Given the description of an element on the screen output the (x, y) to click on. 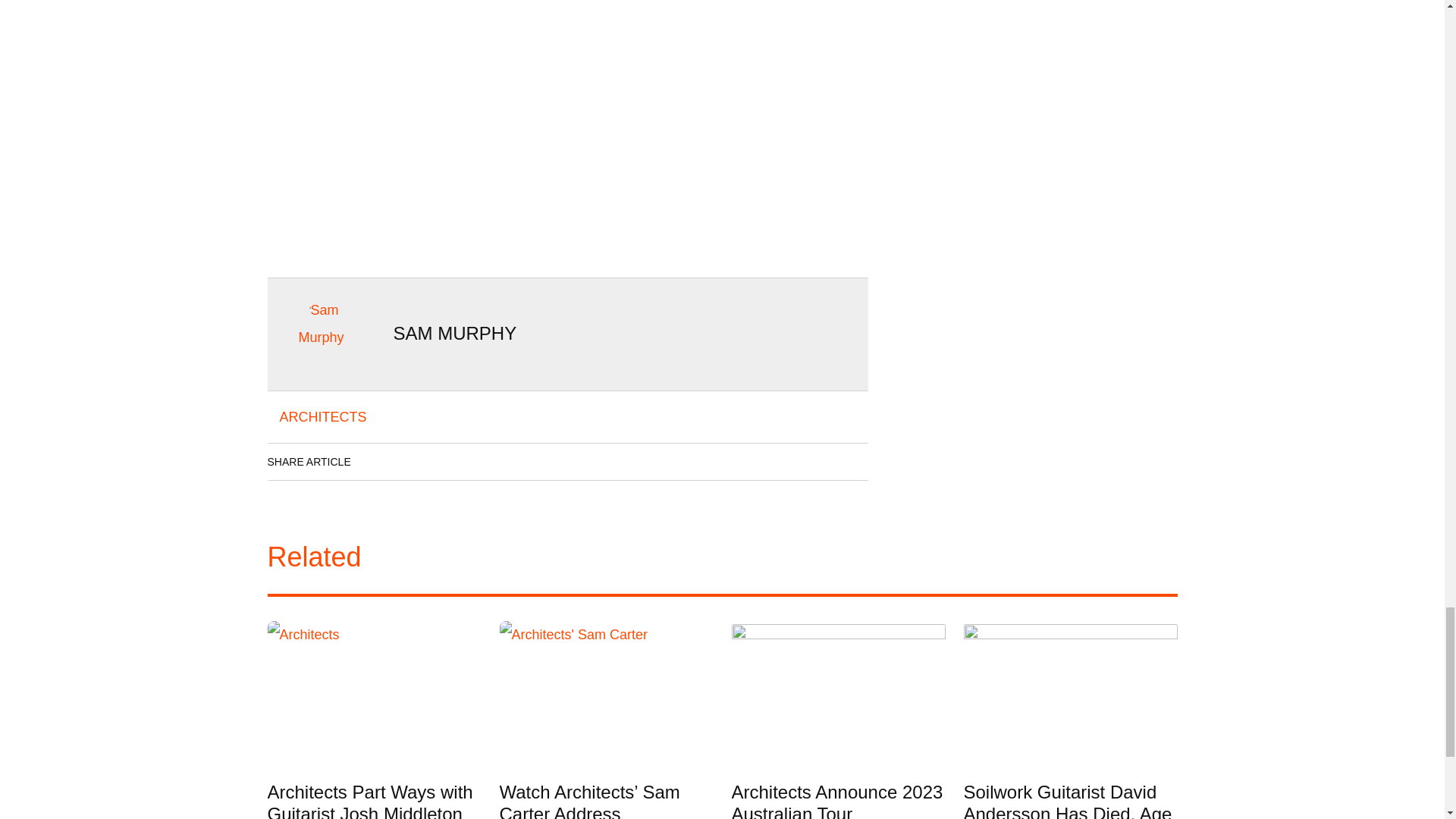
LinkedIn (420, 461)
Twitter (463, 461)
SAM MURPHY (454, 332)
Facebook (377, 461)
Pinterest (505, 461)
ARCHITECTS (322, 416)
